Given the description of an element on the screen output the (x, y) to click on. 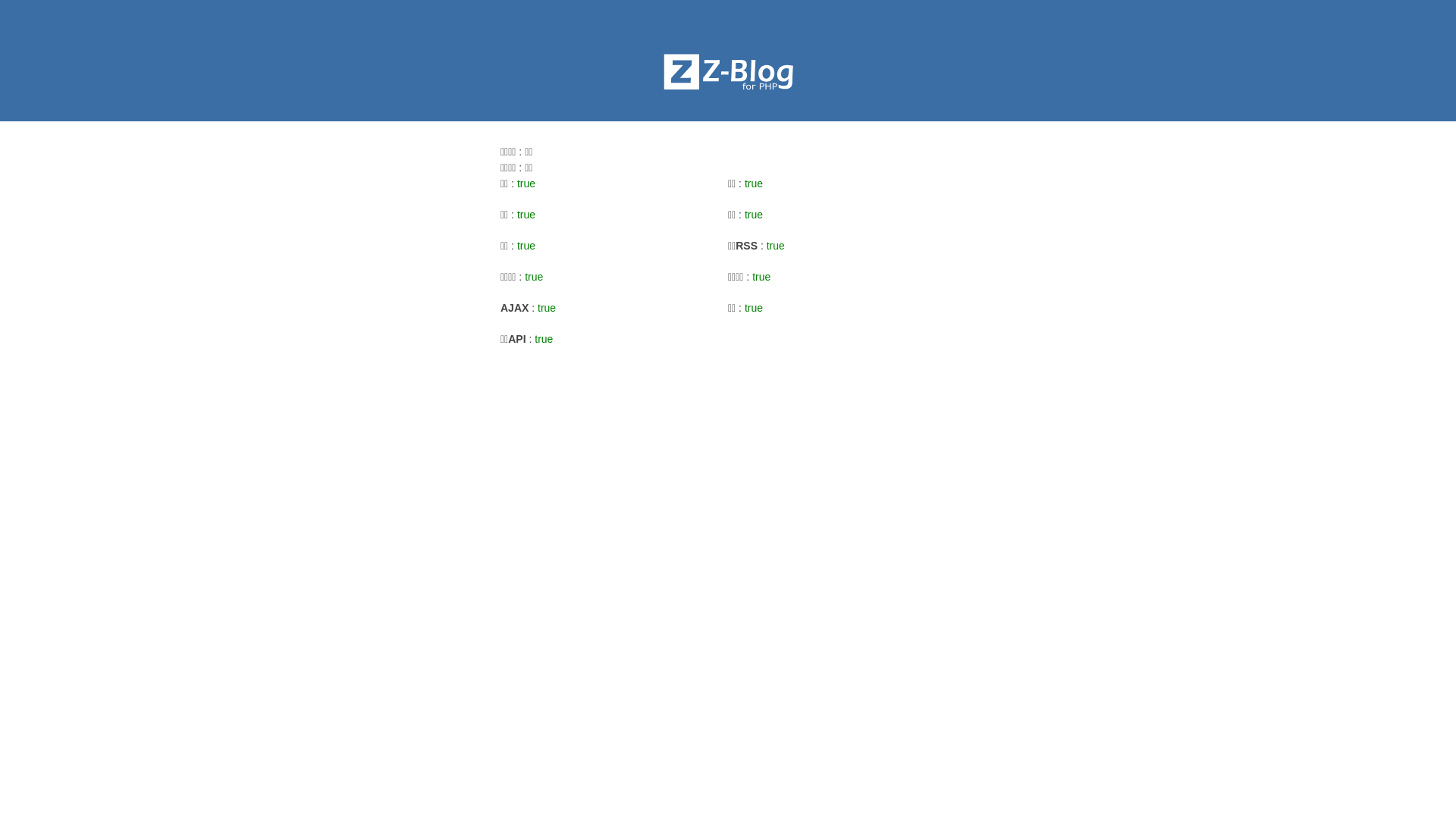
Z-BlogPHP Element type: hover (727, 71)
